Given the description of an element on the screen output the (x, y) to click on. 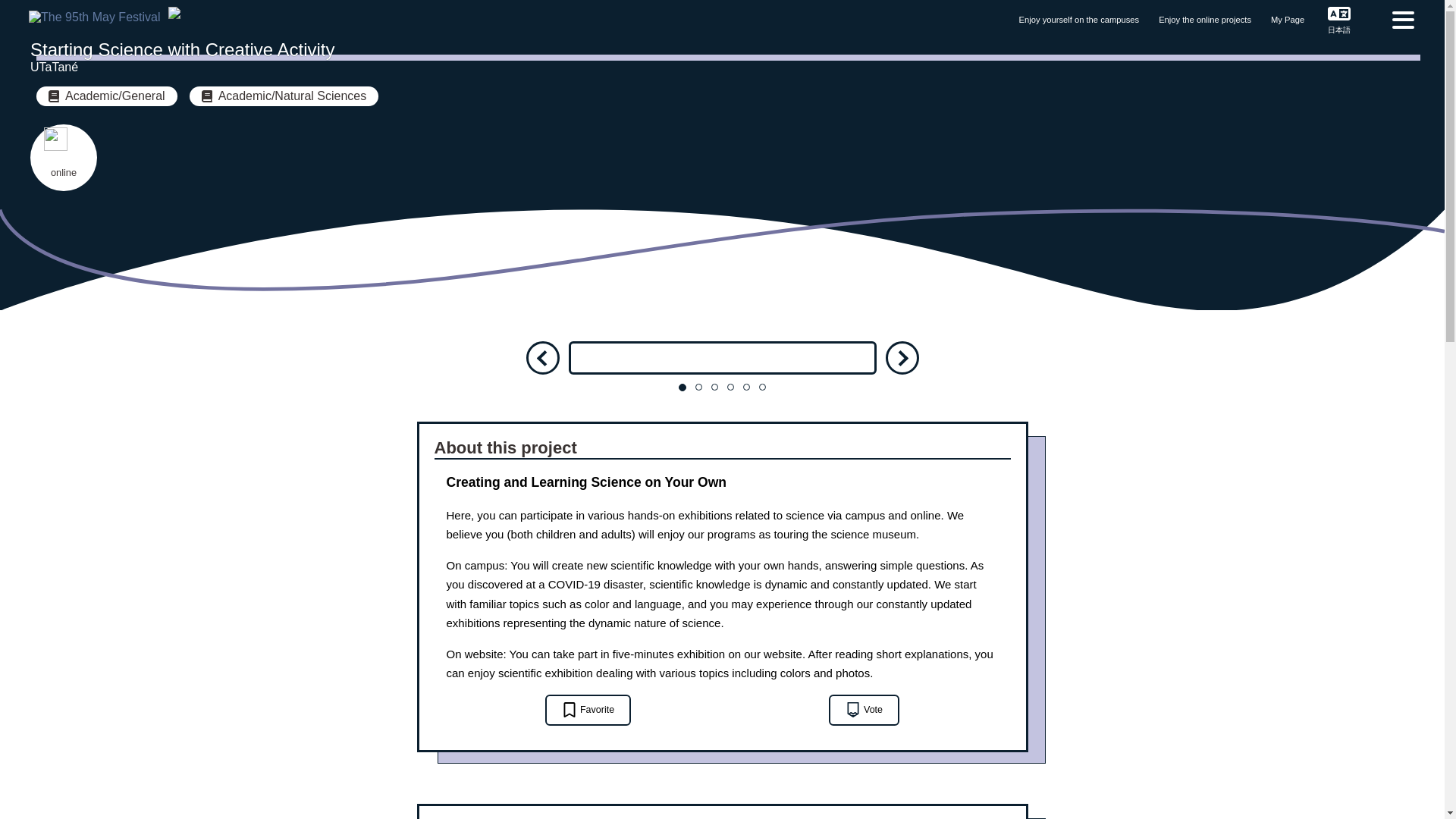
Enjoy yourself on the campuses (1079, 19)
My Page (1287, 19)
Enjoy the online projects (1204, 19)
Contact Us (1390, 14)
